Given the description of an element on the screen output the (x, y) to click on. 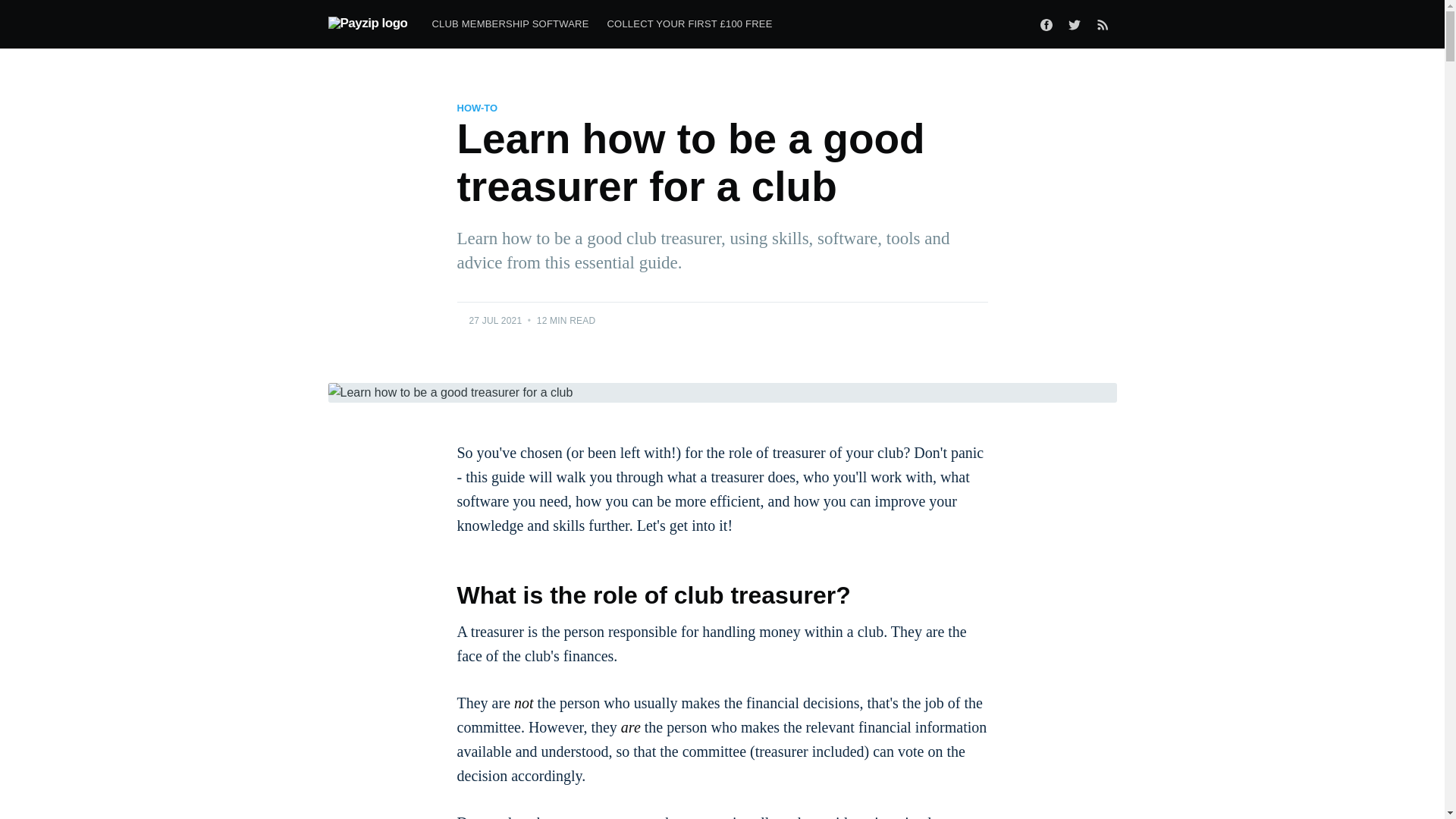
CLUB MEMBERSHIP SOFTWARE (509, 24)
HOW-TO (477, 108)
